Given the description of an element on the screen output the (x, y) to click on. 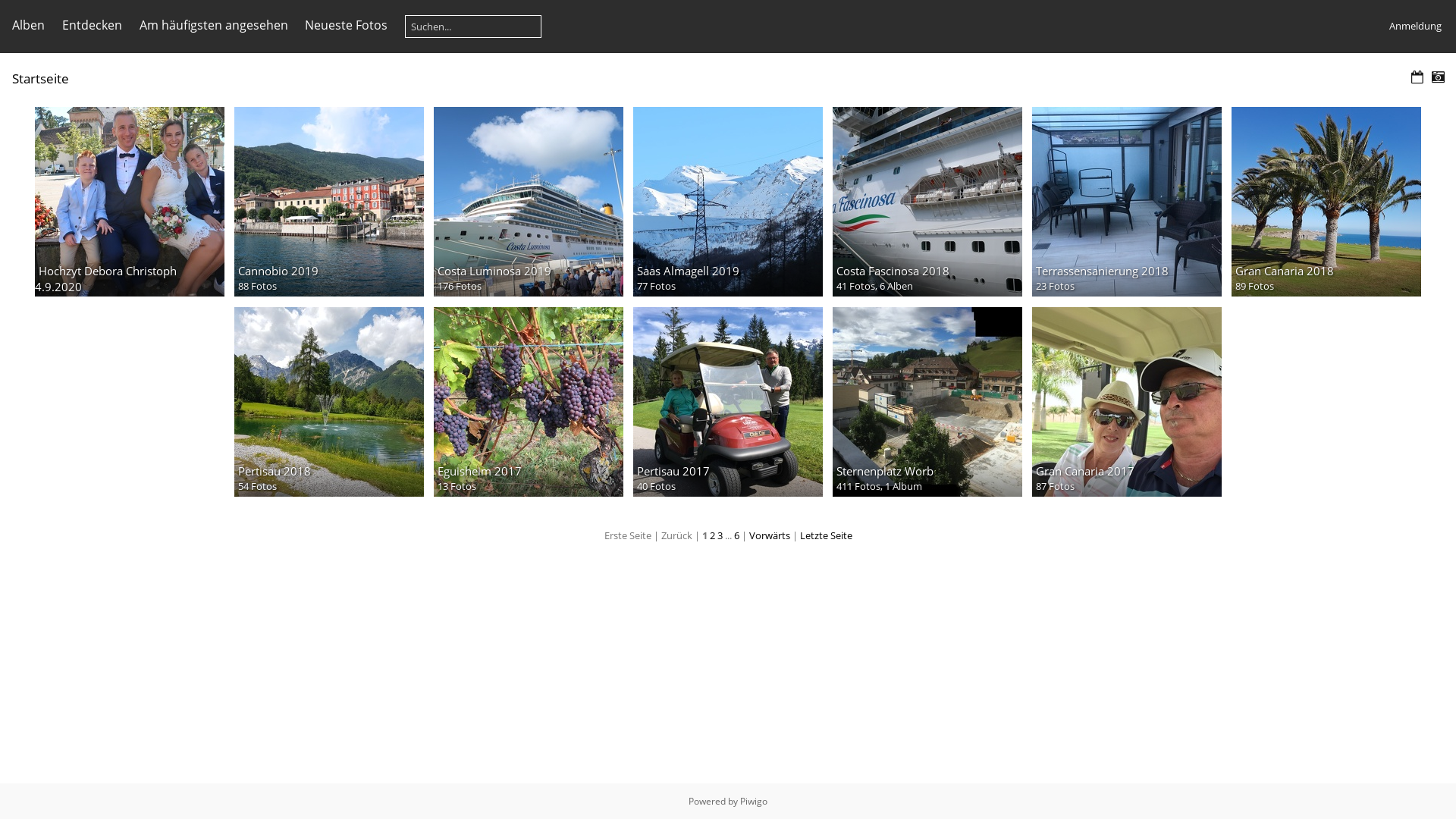
Pertisau 2018
54 Fotos Element type: text (328, 401)
Eguisheim 2017
13 Fotos Element type: text (528, 401)
Gran Canaria 2018
89 Fotos Element type: text (1326, 201)
Terrassensanierung 2018
23 Fotos Element type: text (1126, 201)
Fotos nach Aufnahmedatum anzeigen Element type: hover (1437, 77)
Startseite Element type: text (40, 78)
3 Element type: text (719, 535)
Neueste Fotos Element type: text (345, 24)
2 Element type: text (712, 535)
Letzte Seite Element type: text (825, 535)
Hochzyt Debora Christoph 4.9.2020
58 Fotos Element type: text (129, 201)
Entdecken Element type: text (92, 24)
Costa Fascinosa 2018
41 Fotos, 6 Alben Element type: text (927, 201)
Cannobio 2019
88 Fotos Element type: text (328, 201)
Sternenplatz Worb
411 Fotos, 1 Album Element type: text (927, 401)
Anmeldung Element type: text (1415, 25)
Alben Element type: text (28, 24)
Gran Canaria 2017
87 Fotos Element type: text (1126, 401)
Pertisau 2017
40 Fotos Element type: text (727, 401)
6 Element type: text (736, 535)
Saas Almagell 2019
77 Fotos Element type: text (727, 201)
Piwigo Element type: text (753, 800)
Costa Luminosa 2019
176 Fotos Element type: text (528, 201)
